Given the description of an element on the screen output the (x, y) to click on. 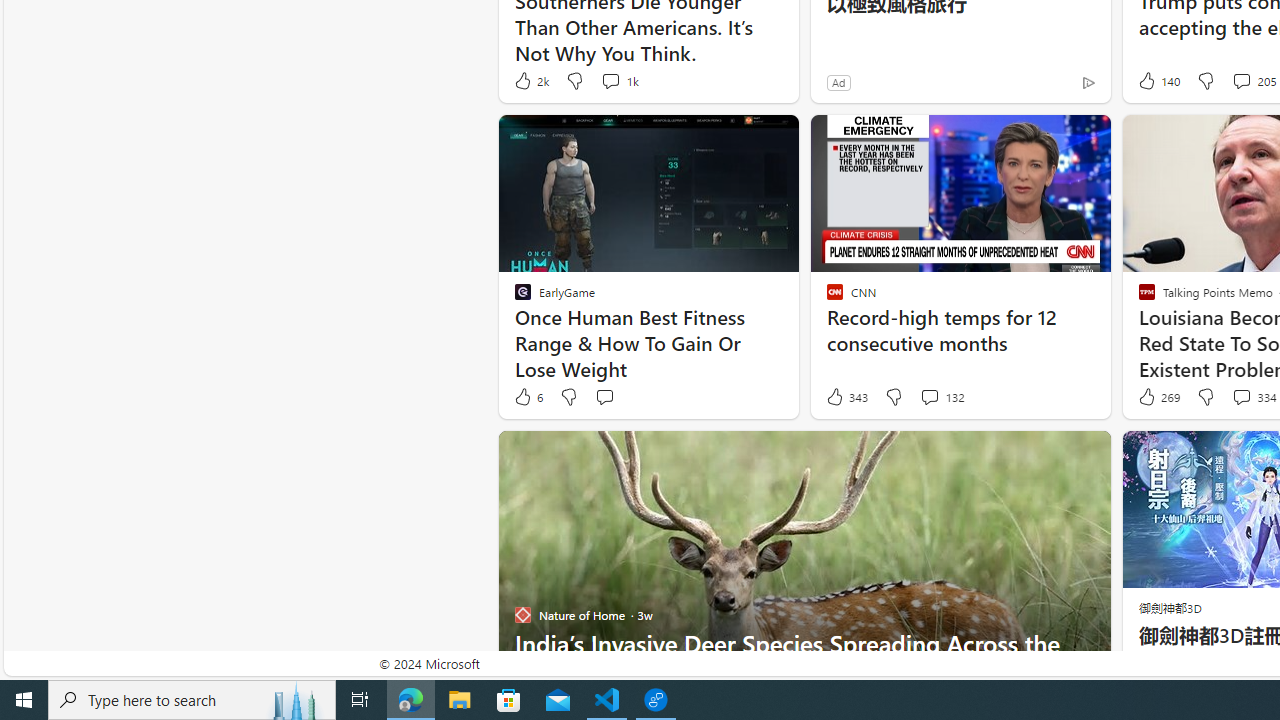
View comments 132 Comment (941, 397)
View comments 205 Comment (1241, 80)
View comments 1k Comment (618, 80)
140 Like (1157, 80)
6 Like (527, 397)
View comments 132 Comment (929, 396)
2k Like (530, 80)
269 Like (1157, 397)
